Given the description of an element on the screen output the (x, y) to click on. 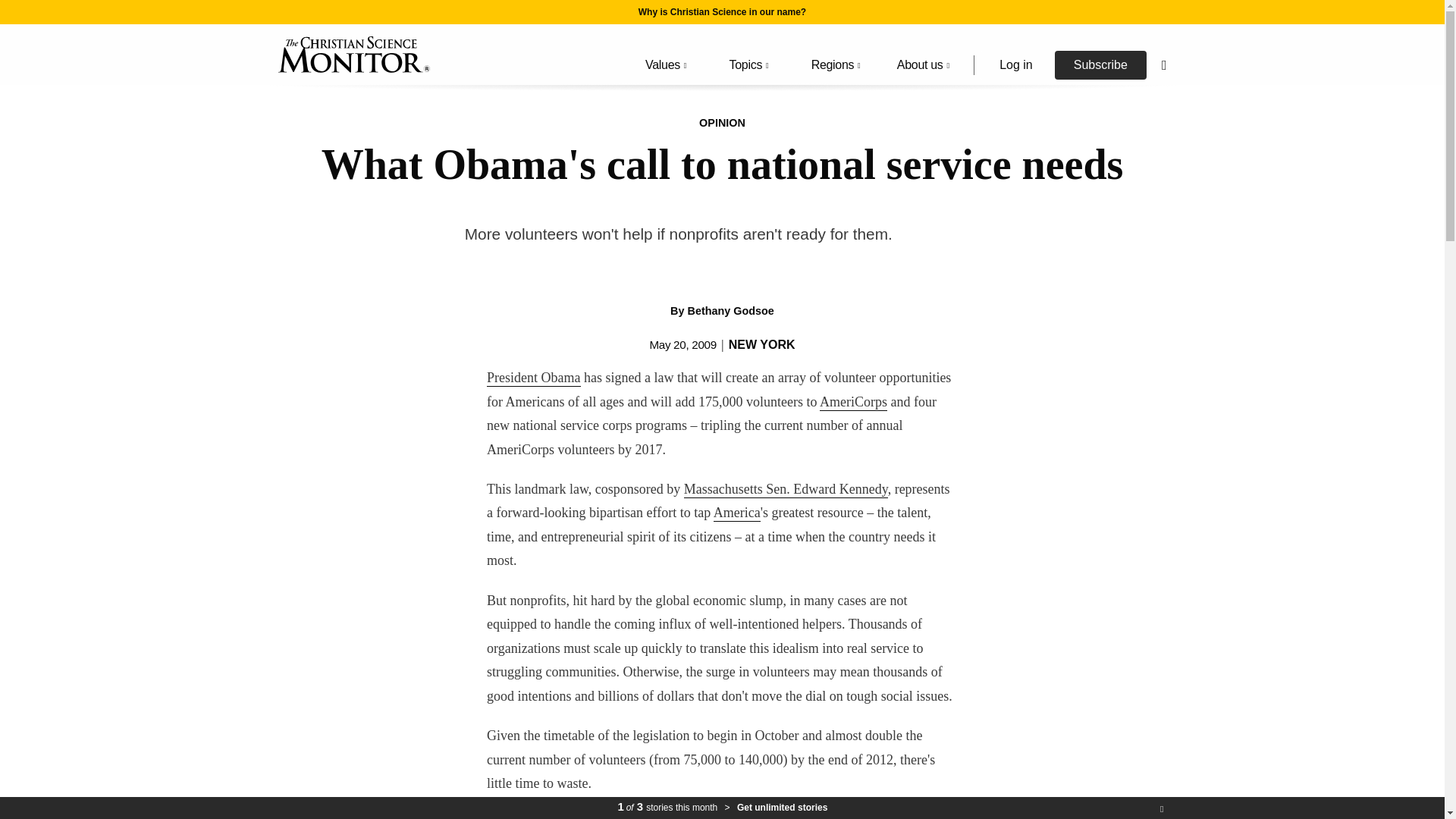
Log in (1015, 64)
Regions (833, 65)
Published: May 20, 2009 12:00 am EDT (682, 344)
About us (923, 65)
Values (662, 65)
Subscribe (1100, 64)
The Christian Science Monitor home page (353, 54)
Topics (745, 65)
